Given the description of an element on the screen output the (x, y) to click on. 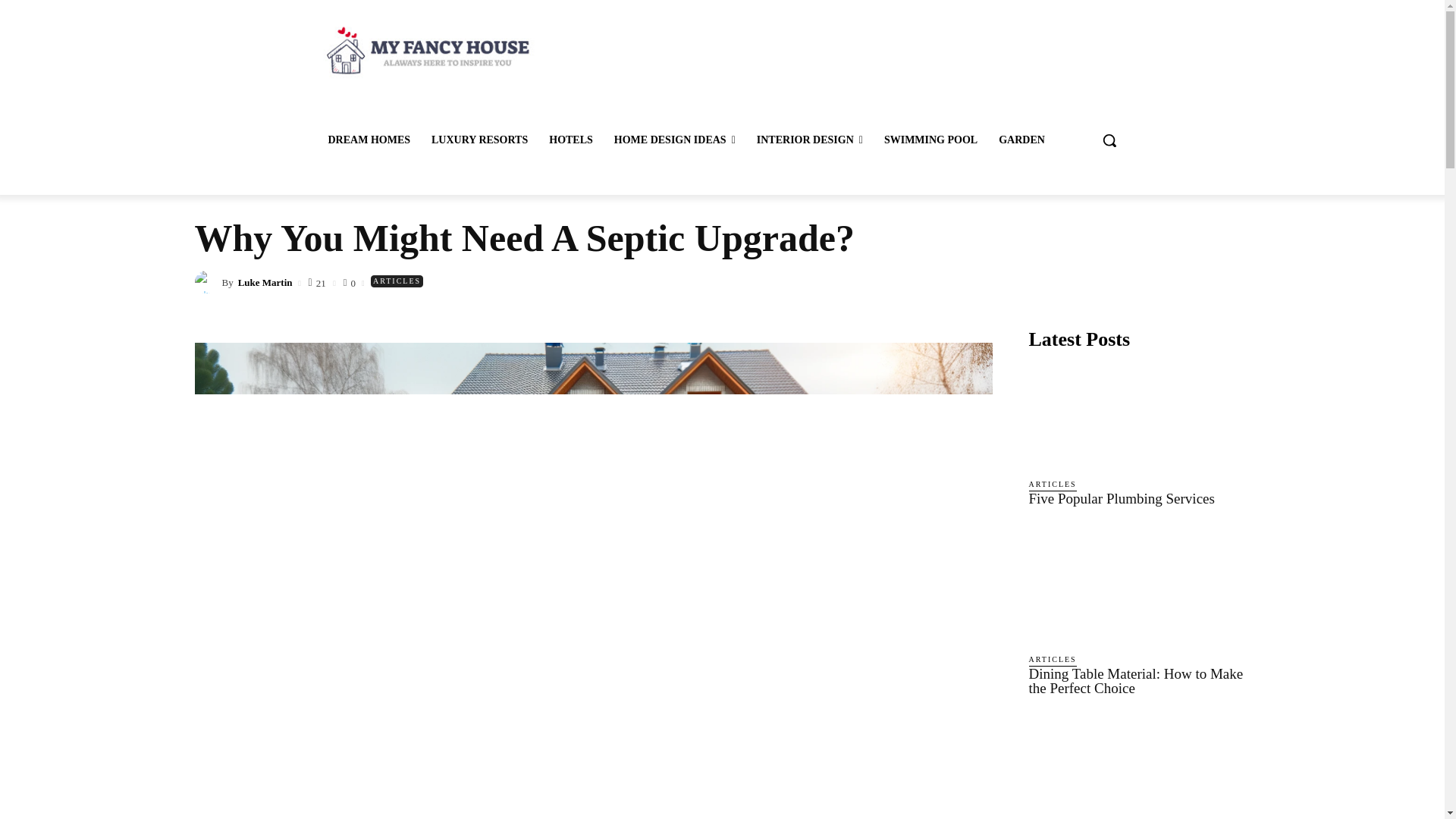
Luke Martin (207, 282)
LUXURY RESORTS (479, 140)
HOME DESIGN IDEAS (674, 140)
MyFancyHouse (425, 49)
HOTELS (571, 140)
INTERIOR DESIGN (809, 140)
DREAM HOMES (368, 140)
